Given the description of an element on the screen output the (x, y) to click on. 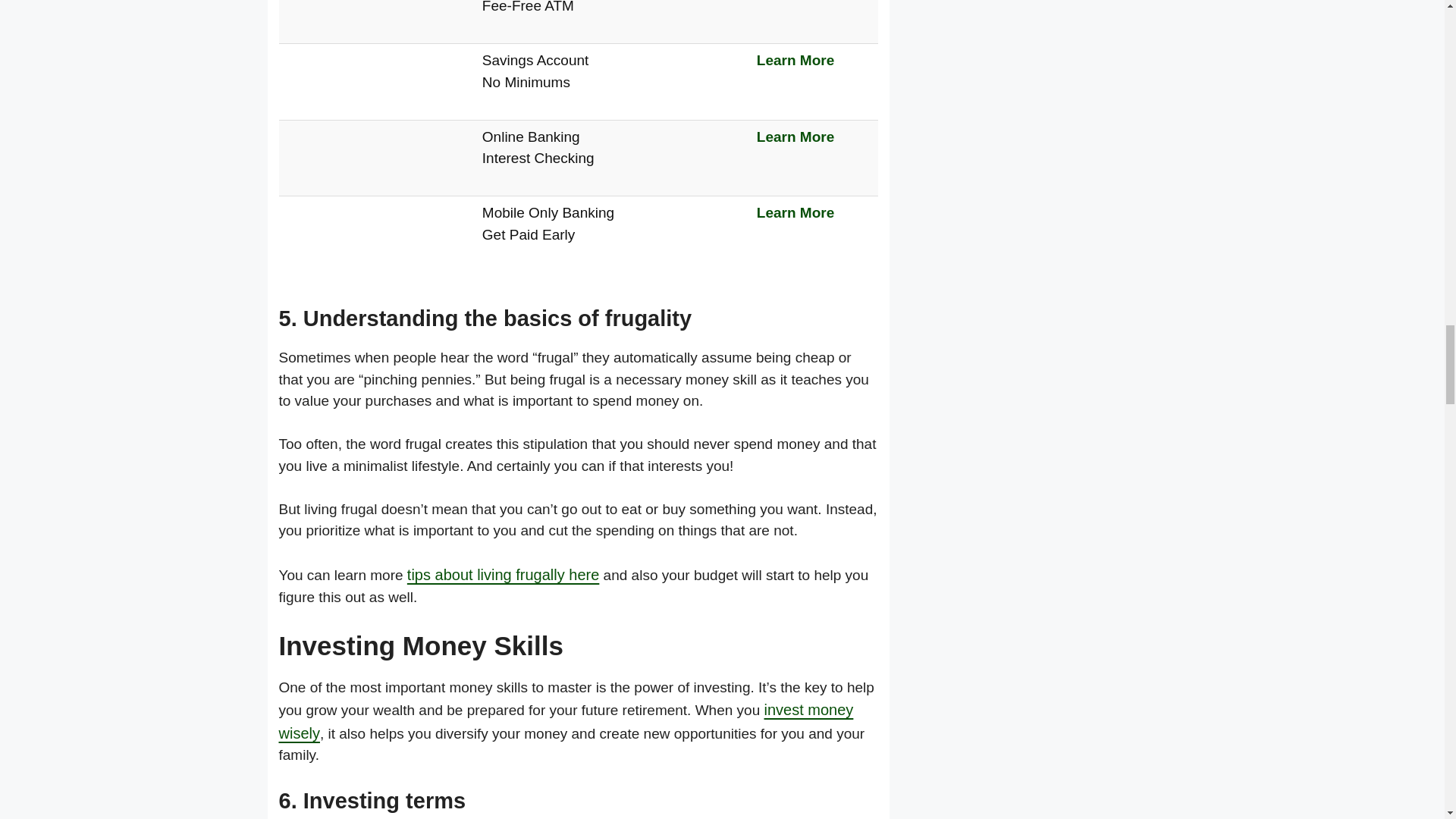
Learn More (795, 212)
Learn More (795, 136)
Learn More (795, 59)
